Given the description of an element on the screen output the (x, y) to click on. 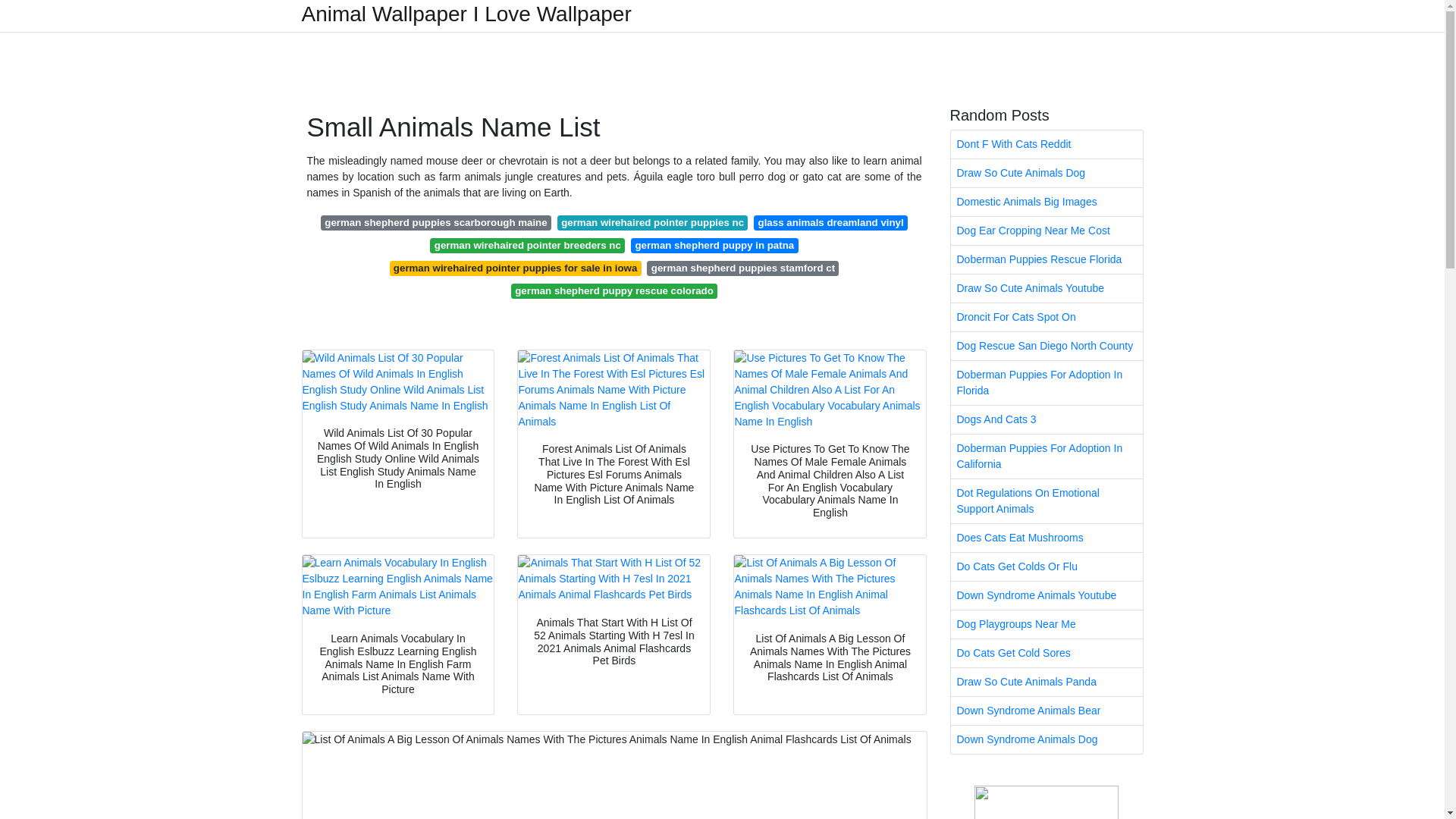
german wirehaired pointer breeders nc (526, 245)
german shepherd puppies scarborough maine (435, 222)
Droncit For Cats Spot On (1046, 317)
Domestic Animals Big Images (1046, 202)
german wirehaired pointer puppies nc (652, 222)
german wirehaired pointer puppies for sale in iowa (516, 268)
german shepherd puppy in patna (713, 245)
Draw So Cute Animals Dog (1046, 172)
Doberman Puppies For Adoption In Florida (1046, 382)
Draw So Cute Animals Youtube (1046, 288)
Dog Ear Cropping Near Me Cost (1046, 230)
german shepherd puppies stamford ct (742, 268)
german shepherd puppy rescue colorado (614, 290)
Doberman Puppies Rescue Florida (1046, 259)
Dog Rescue San Diego North County (1046, 346)
